Given the description of an element on the screen output the (x, y) to click on. 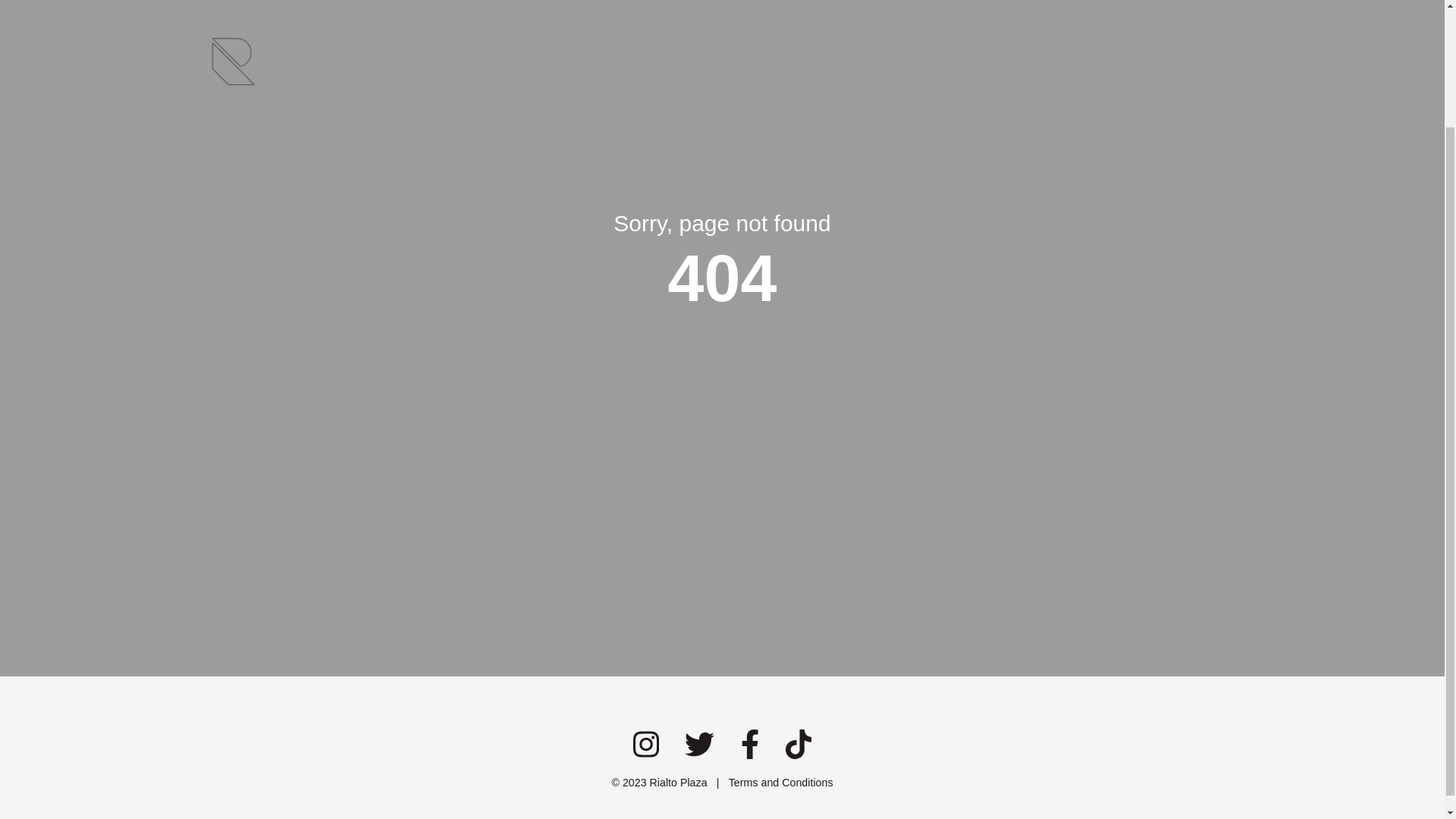
Terms and Conditions (780, 782)
